Given the description of an element on the screen output the (x, y) to click on. 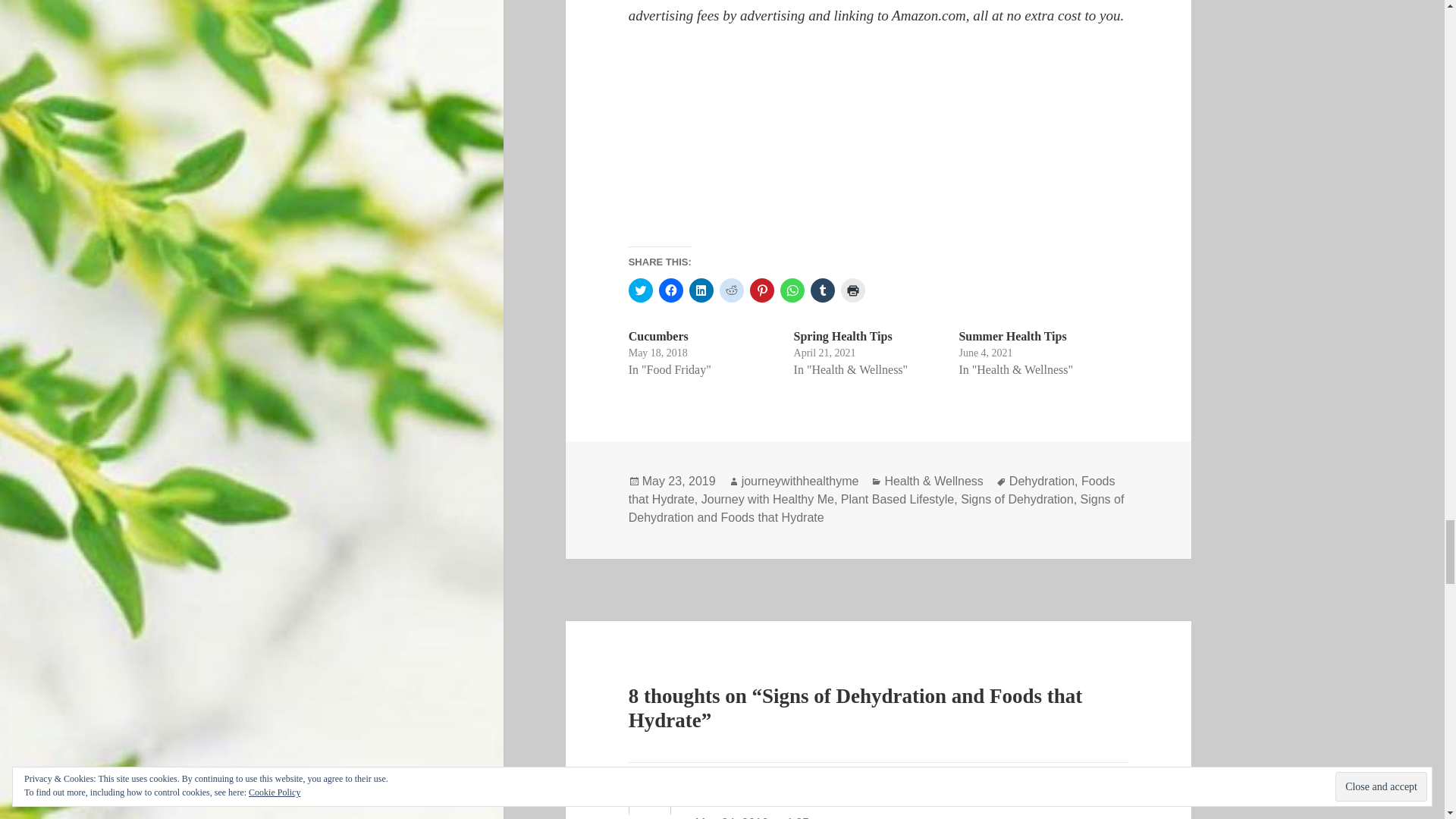
Click to share on Pinterest (761, 290)
Click to share on Twitter (640, 290)
Cucumbers (658, 336)
Click to share on Reddit (731, 290)
Click to print (852, 290)
Summer Health Tips (1011, 336)
Spring Health Tips (842, 336)
Click to share on Facebook (670, 290)
Click to share on LinkedIn (700, 290)
Click to share on WhatsApp (792, 290)
